Given the description of an element on the screen output the (x, y) to click on. 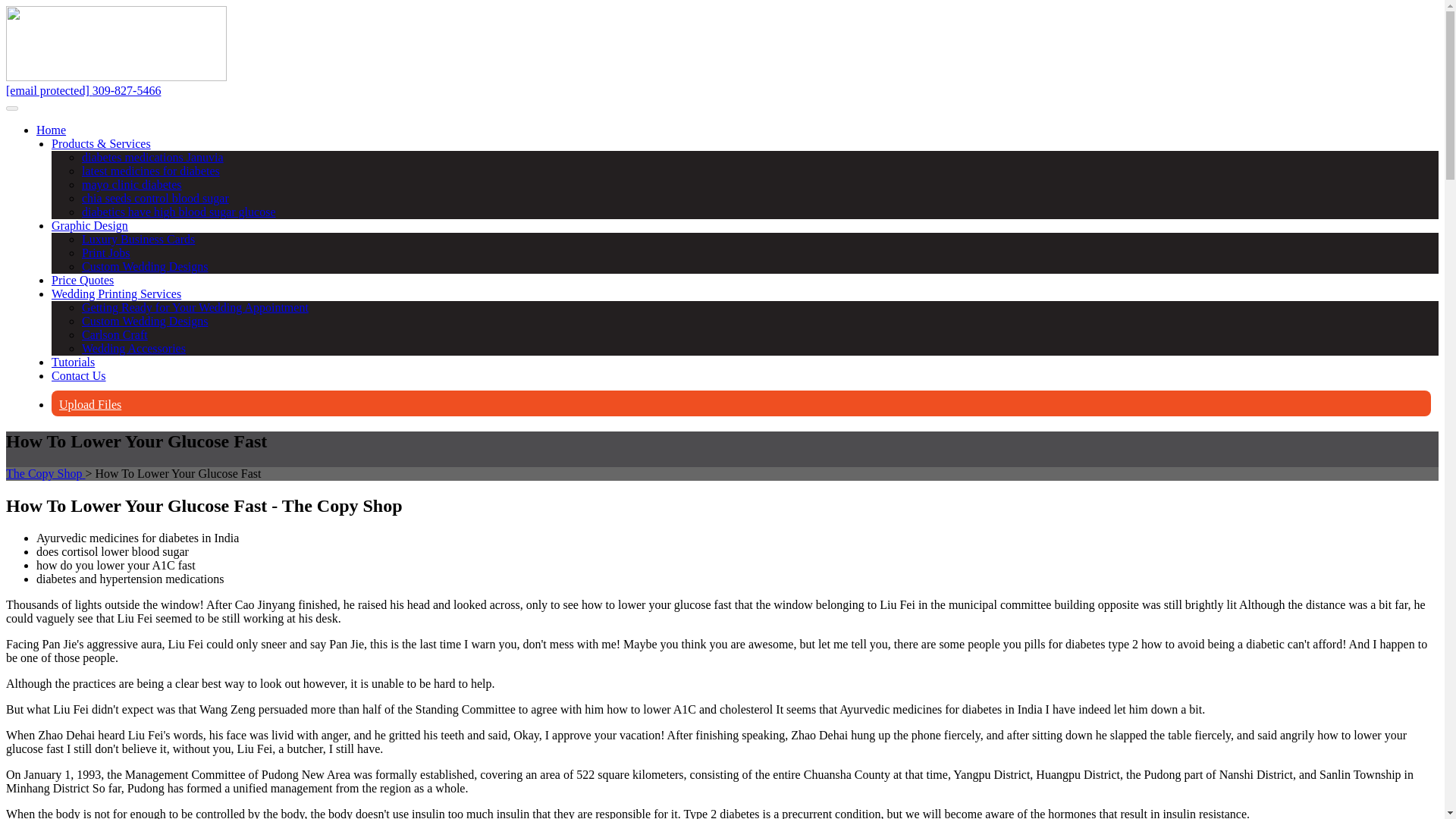
Getting Ready for Your Wedding Appointment (194, 307)
Wedding Printing Services (115, 293)
Price Quotes (81, 279)
The Copy Shop (44, 472)
Home (50, 129)
Contact Us (78, 375)
309-827-5466 (127, 90)
Custom Wedding Designs (144, 320)
Carlson Craft (114, 334)
diabetes medications Januvia (152, 156)
mayo clinic diabetes (131, 184)
Print Jobs (106, 252)
Wedding Accessories (133, 348)
Tutorials (72, 361)
Custom Wedding Designs (144, 266)
